Given the description of an element on the screen output the (x, y) to click on. 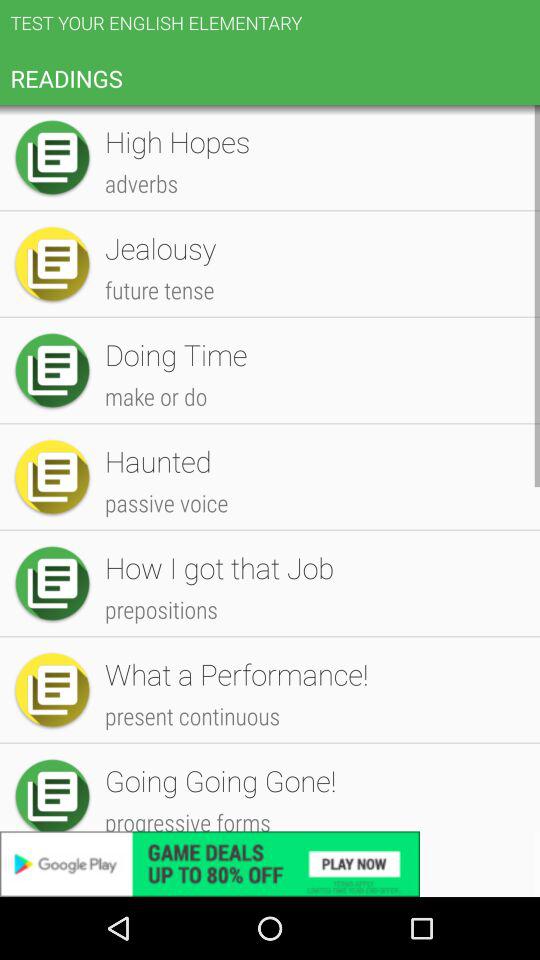
scroll to the all tests app (311, 143)
